Given the description of an element on the screen output the (x, y) to click on. 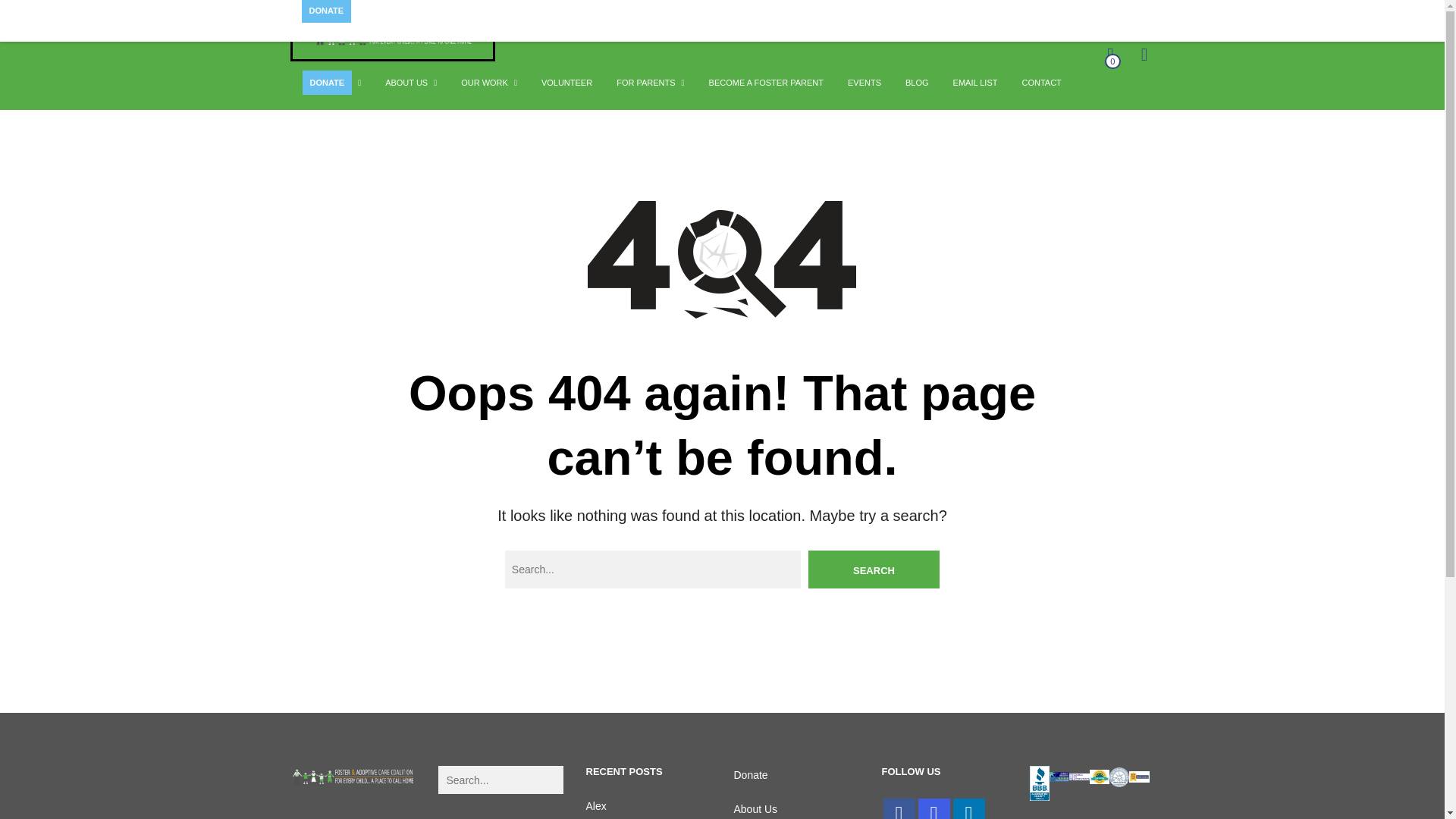
facebook (898, 808)
linkedin (968, 808)
DONATE (326, 82)
OUR WORK (483, 82)
ABOUT US (405, 82)
instagram (933, 808)
Search (873, 569)
Search (873, 569)
